Given the description of an element on the screen output the (x, y) to click on. 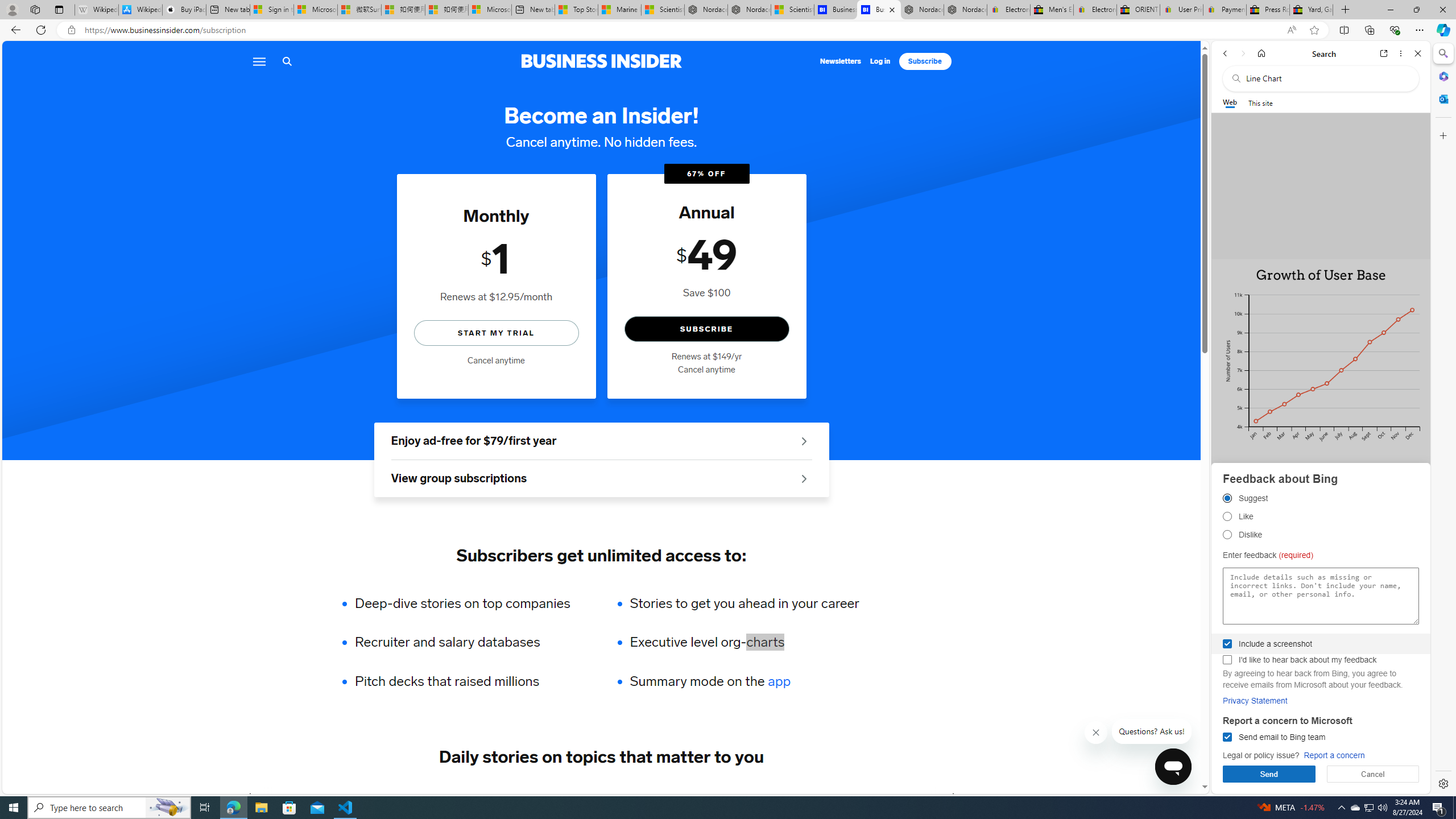
View group subscriptions See group offers (601, 478)
START MY TRIAL (496, 332)
Business Insider logo (601, 60)
EXECUTIVE LIFESTYLE (788, 796)
Menu (257, 61)
Questions? Ask us! (1152, 731)
Recruiter and salary databases (470, 642)
ADVERTISING (349, 796)
